Given the description of an element on the screen output the (x, y) to click on. 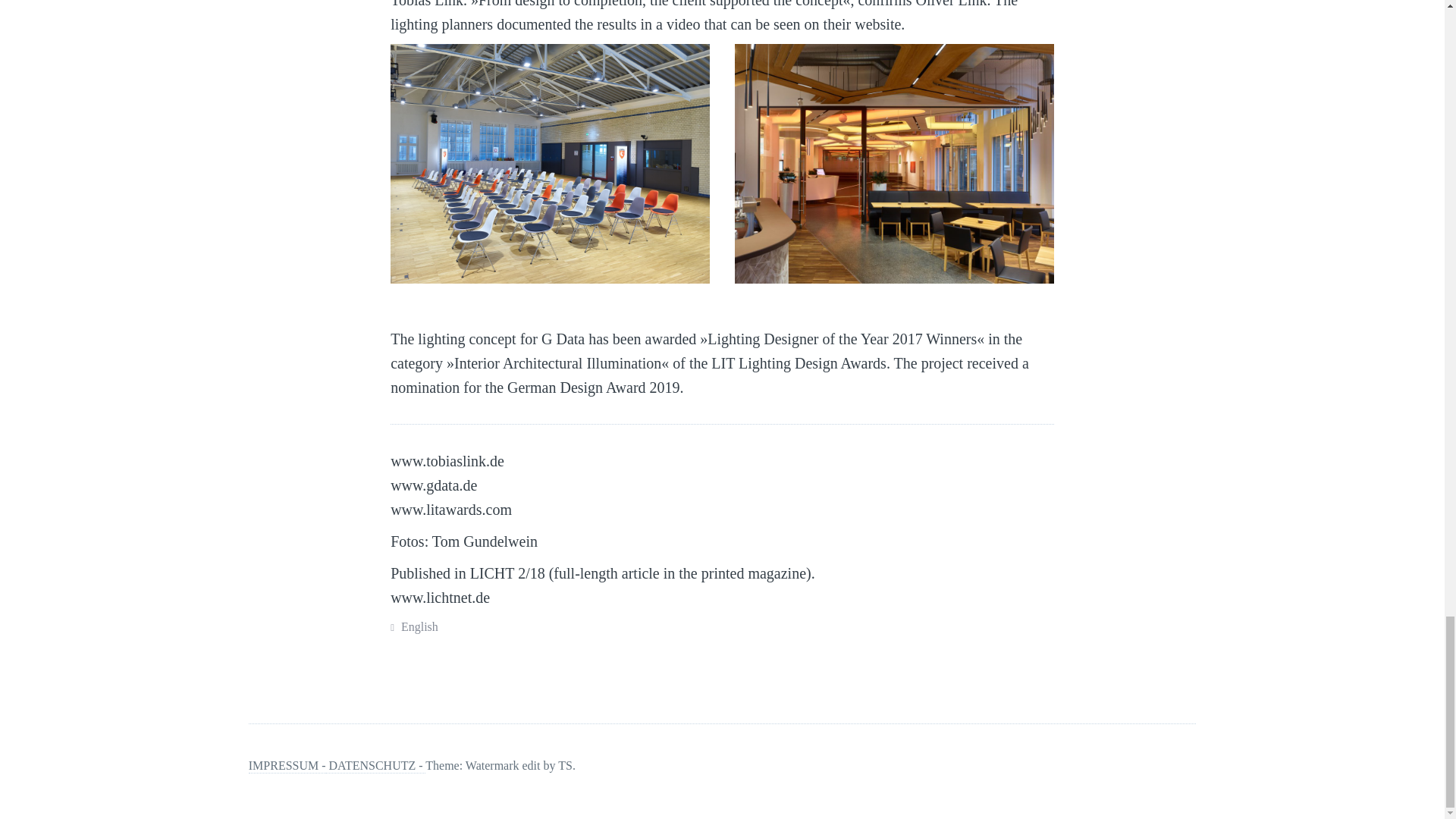
www.litawards.com (451, 509)
www.gdata.de (433, 484)
IMPRESSUM - (287, 766)
www.tobiaslink.de (446, 460)
www.lichtnet.de (439, 597)
English (419, 626)
DATENSCHUTZ - (376, 766)
